Given the description of an element on the screen output the (x, y) to click on. 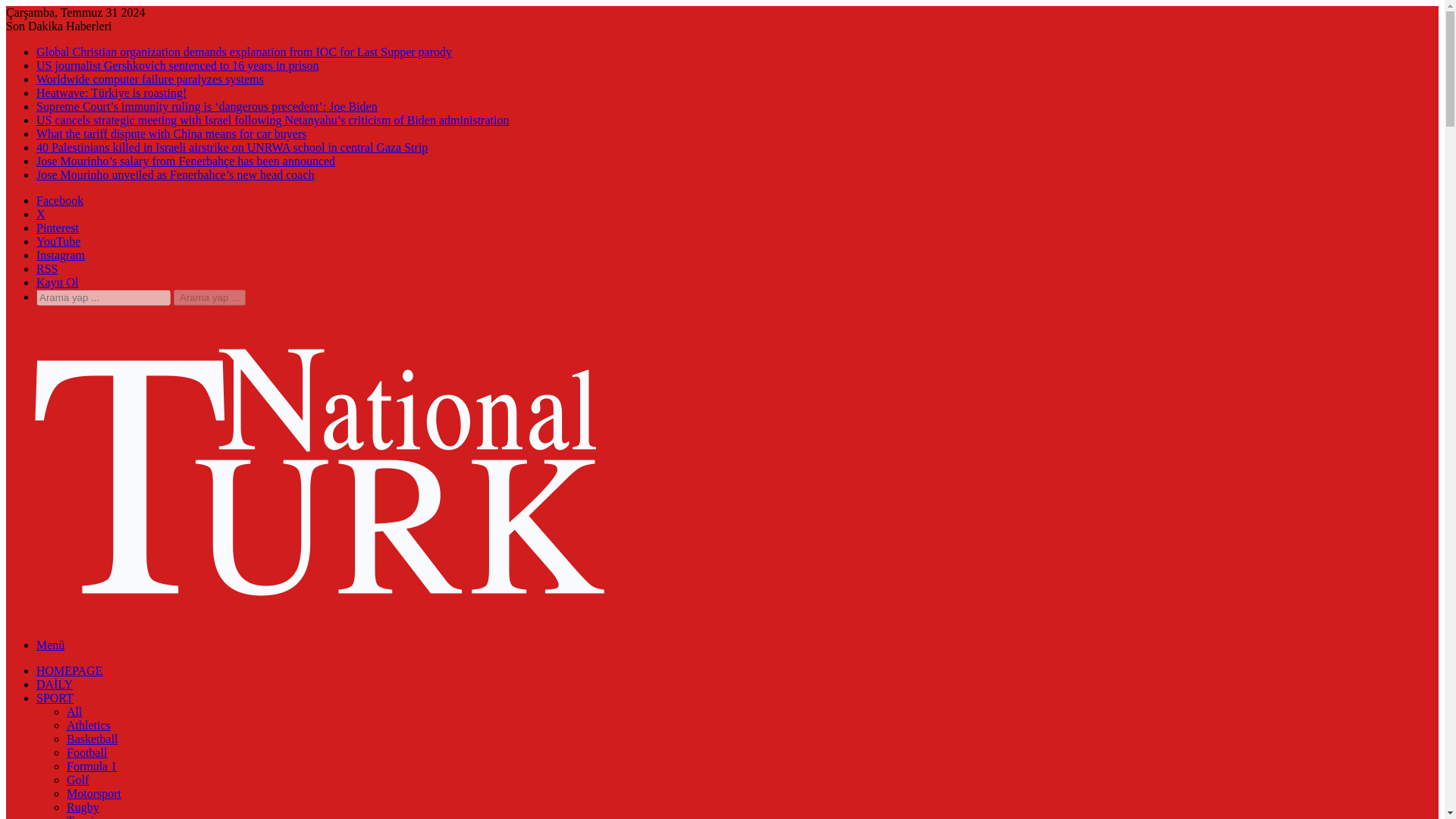
Basketball (91, 738)
Arama yap ... (103, 297)
NationalTurk (319, 614)
What the tariff dispute with China means for car buyers (170, 133)
Football (86, 752)
Worldwide computer failure paralyzes systems (149, 78)
RSS (47, 268)
Motorsport (93, 793)
Rugby (82, 807)
Tennis (82, 816)
SPORT (55, 697)
Formula 1 (91, 766)
Facebook (59, 200)
